Given the description of an element on the screen output the (x, y) to click on. 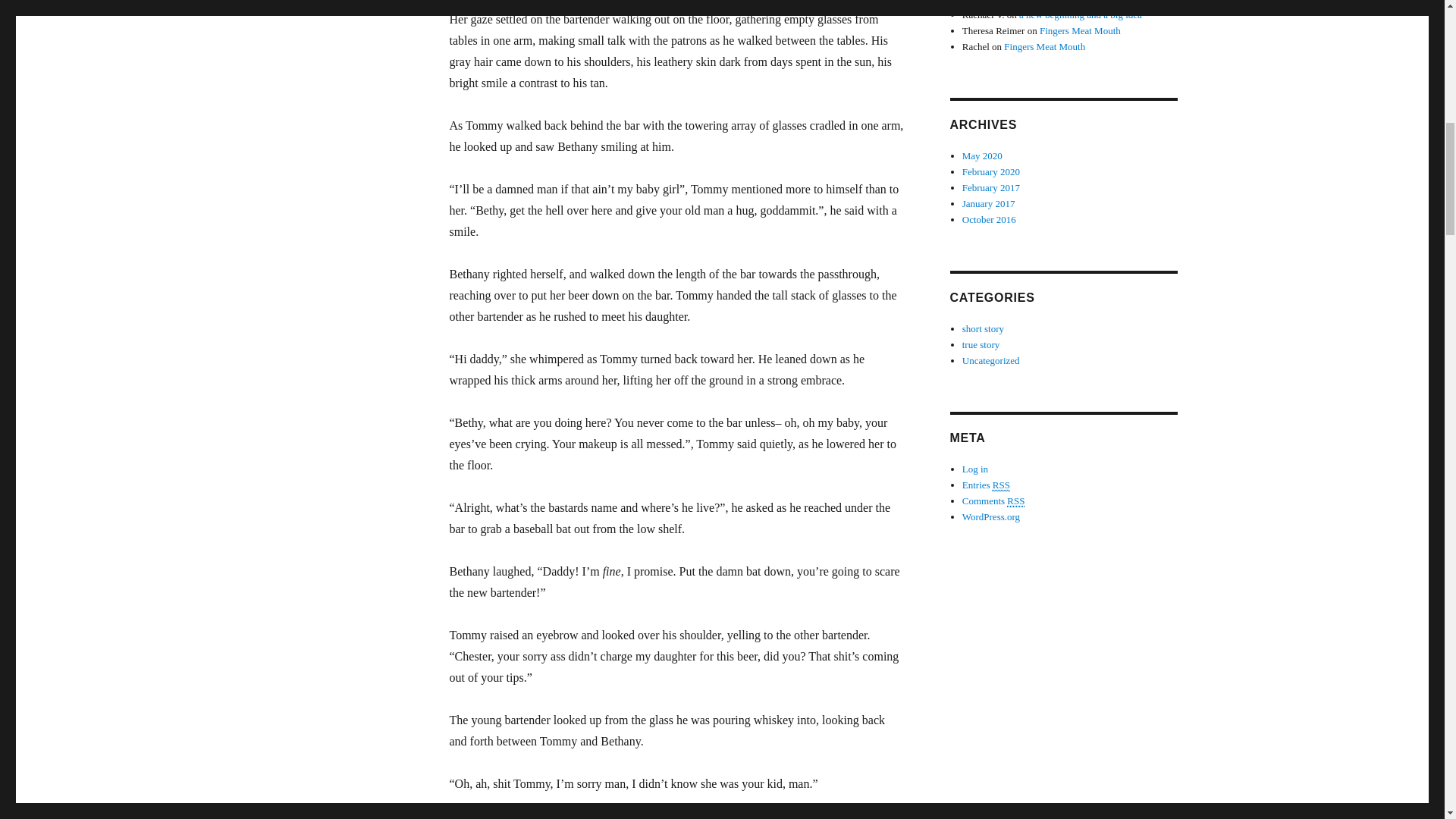
Fingers Meat Mouth (1080, 30)
Really Simple Syndication (1001, 485)
Fingers Meat Mouth (1042, 2)
February 2017 (991, 187)
February 2020 (991, 171)
a new beginning and a big idea (1080, 14)
Really Simple Syndication (1016, 500)
January 2017 (988, 203)
Fingers Meat Mouth (1044, 46)
May 2020 (982, 155)
